Given the description of an element on the screen output the (x, y) to click on. 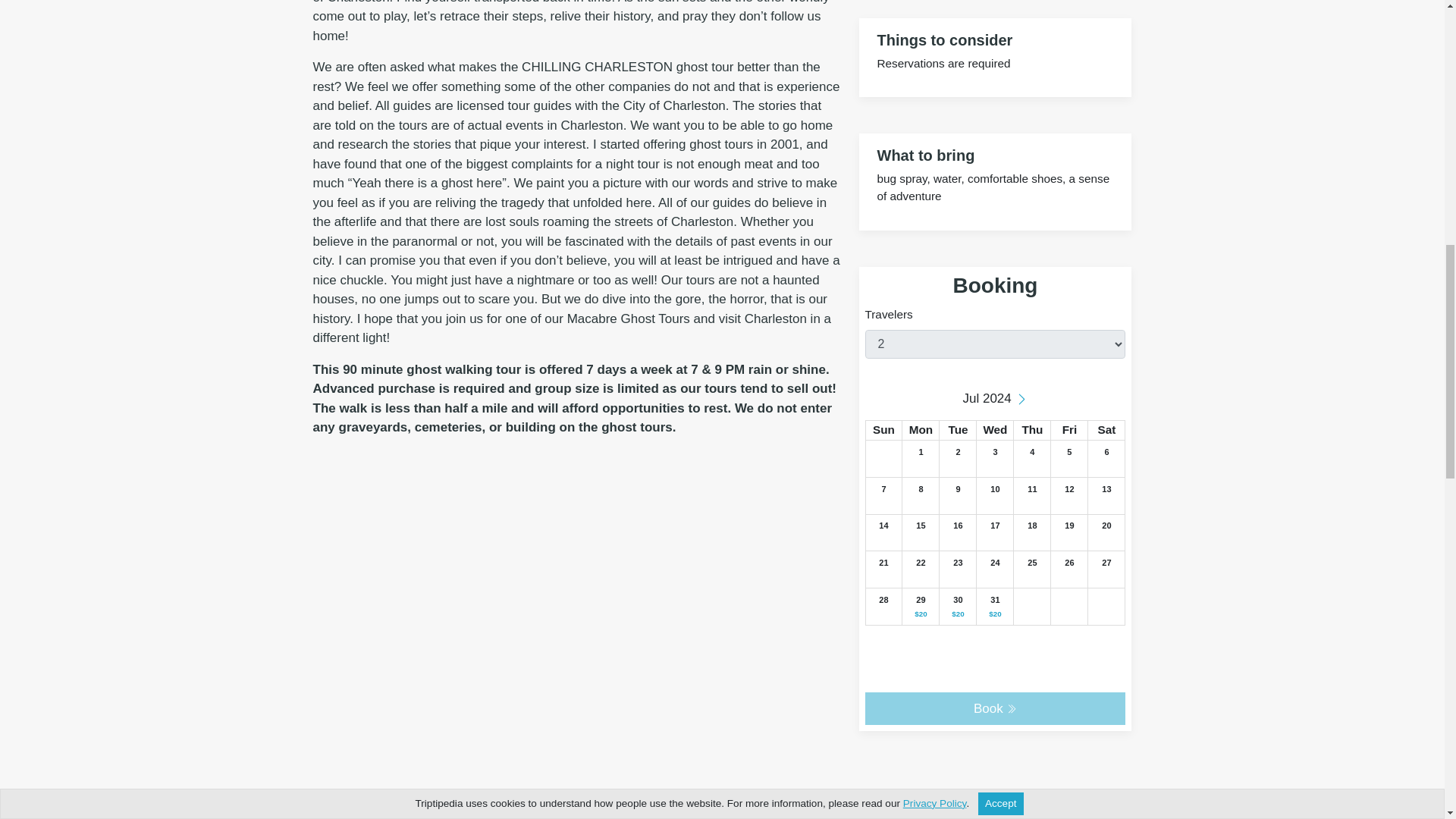
Book (994, 708)
